Given the description of an element on the screen output the (x, y) to click on. 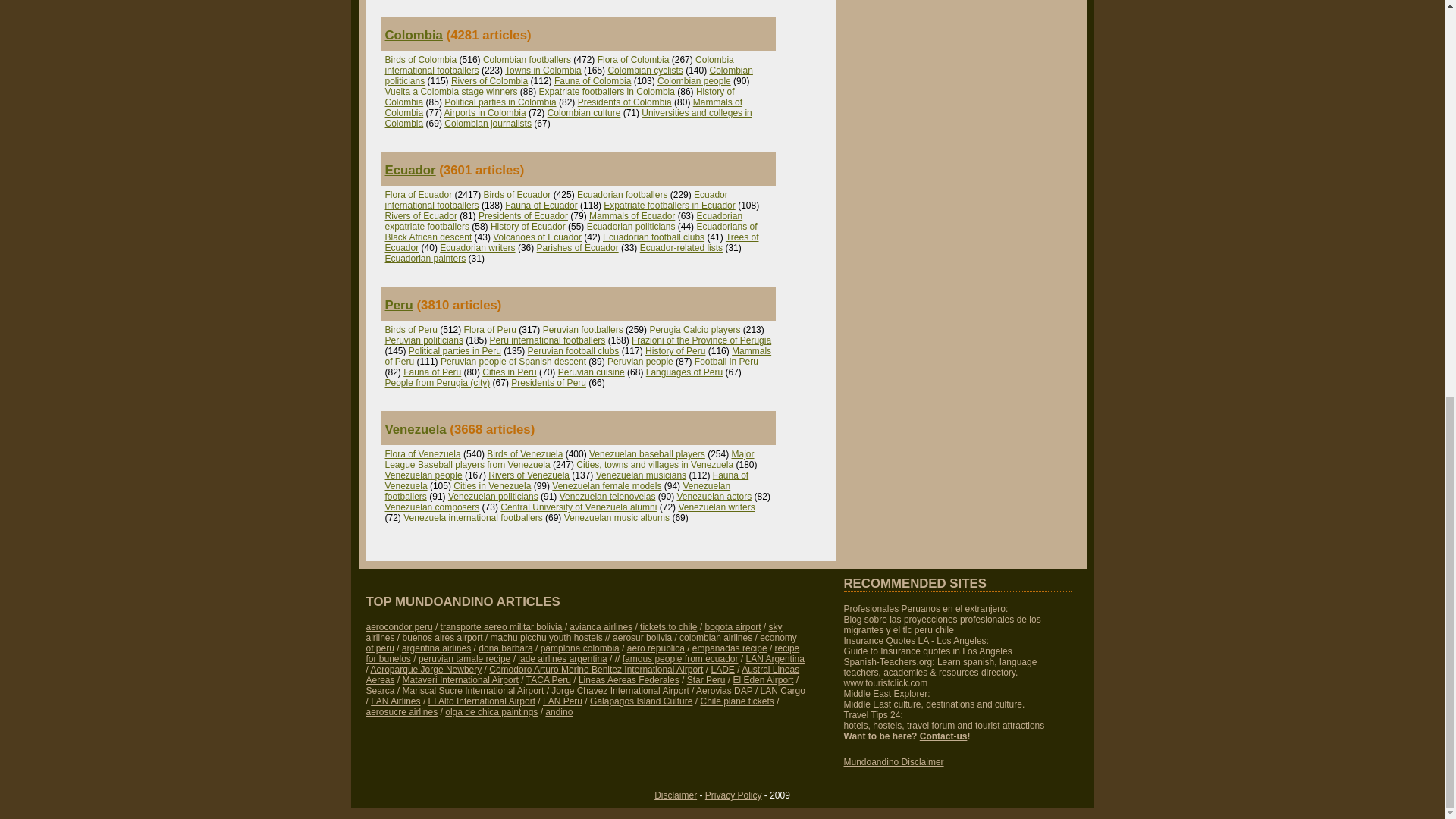
machu picchu (546, 637)
ministro pistarini - ezeiza airport (443, 637)
Bogota airport (732, 626)
Airlines of Colombia (600, 626)
Airlines of Chile (573, 631)
Aerosur Bolivia Airline (641, 637)
Airlines of Peru (398, 626)
Airlines of Bolivia (501, 626)
Airlines of Chile, tickets, flights (668, 626)
SAM Colombia airlines (715, 637)
Peru Economy (580, 642)
